Given the description of an element on the screen output the (x, y) to click on. 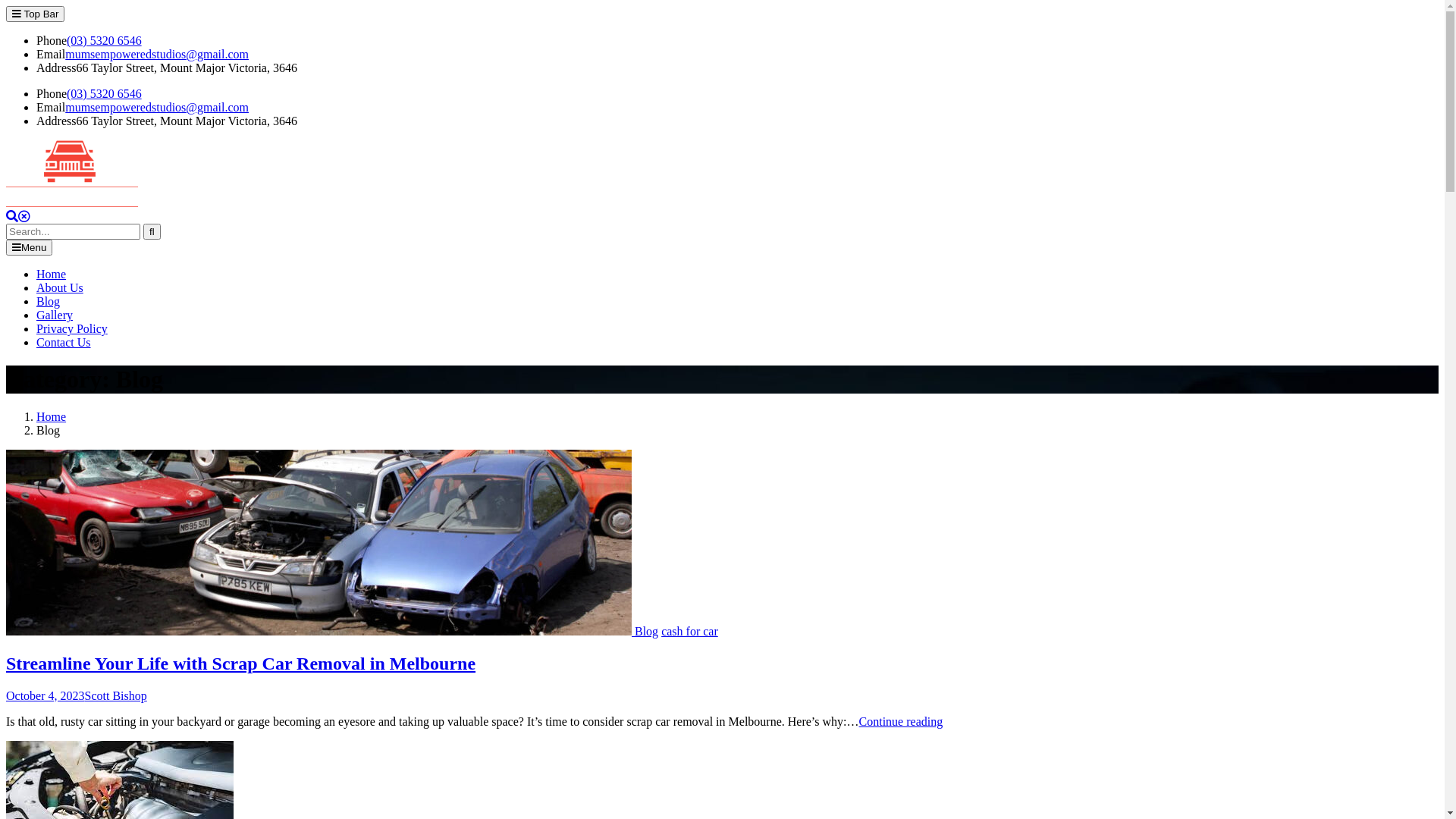
Menu Element type: text (29, 247)
Privacy Policy Element type: text (71, 328)
Streamline Your Life with Scrap Car Removal in Melbourne Element type: text (240, 663)
Gallery Element type: text (54, 314)
(03) 5320 6546 Element type: text (103, 40)
Blog Element type: text (47, 300)
About Us Element type: text (59, 287)
October 4, 2023 Element type: text (45, 695)
Top Bar Element type: text (35, 13)
(03) 5320 6546 Element type: text (103, 93)
Search Element type: text (18, 216)
Scott Bishop Element type: text (115, 695)
Skip to content Element type: text (5, 5)
Contact Us Element type: text (63, 341)
Blog Element type: text (646, 630)
Mumsem Powered Studios Element type: text (71, 228)
mumsempoweredstudios@gmail.com Element type: text (156, 106)
Home Element type: text (50, 273)
mumsempoweredstudios@gmail.com Element type: text (156, 53)
cash for car Element type: text (689, 630)
Home Element type: text (50, 416)
